Given the description of an element on the screen output the (x, y) to click on. 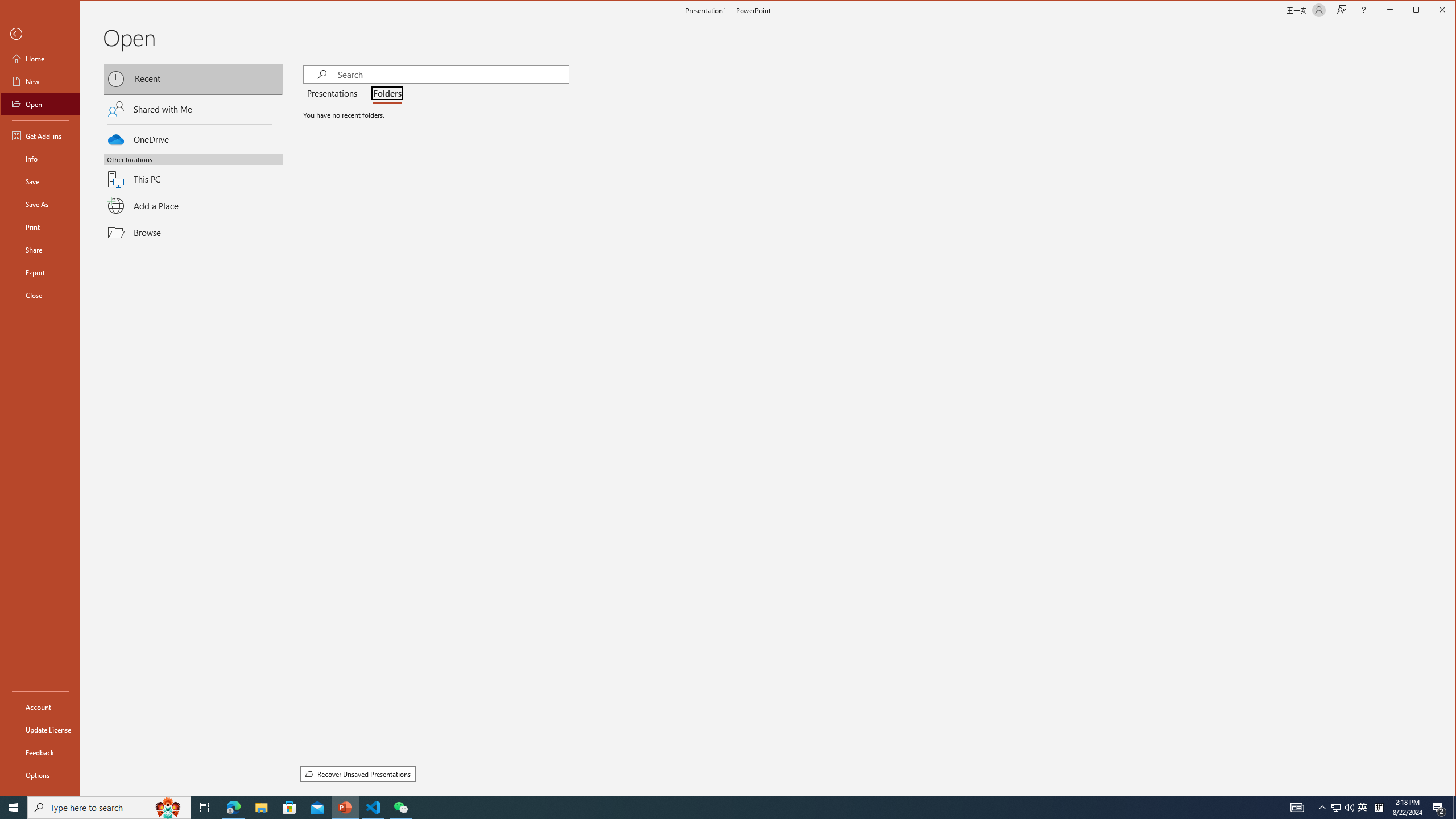
Recover Unsaved Presentations (357, 773)
Browse (193, 232)
Save As (40, 203)
Print (40, 226)
